Given the description of an element on the screen output the (x, y) to click on. 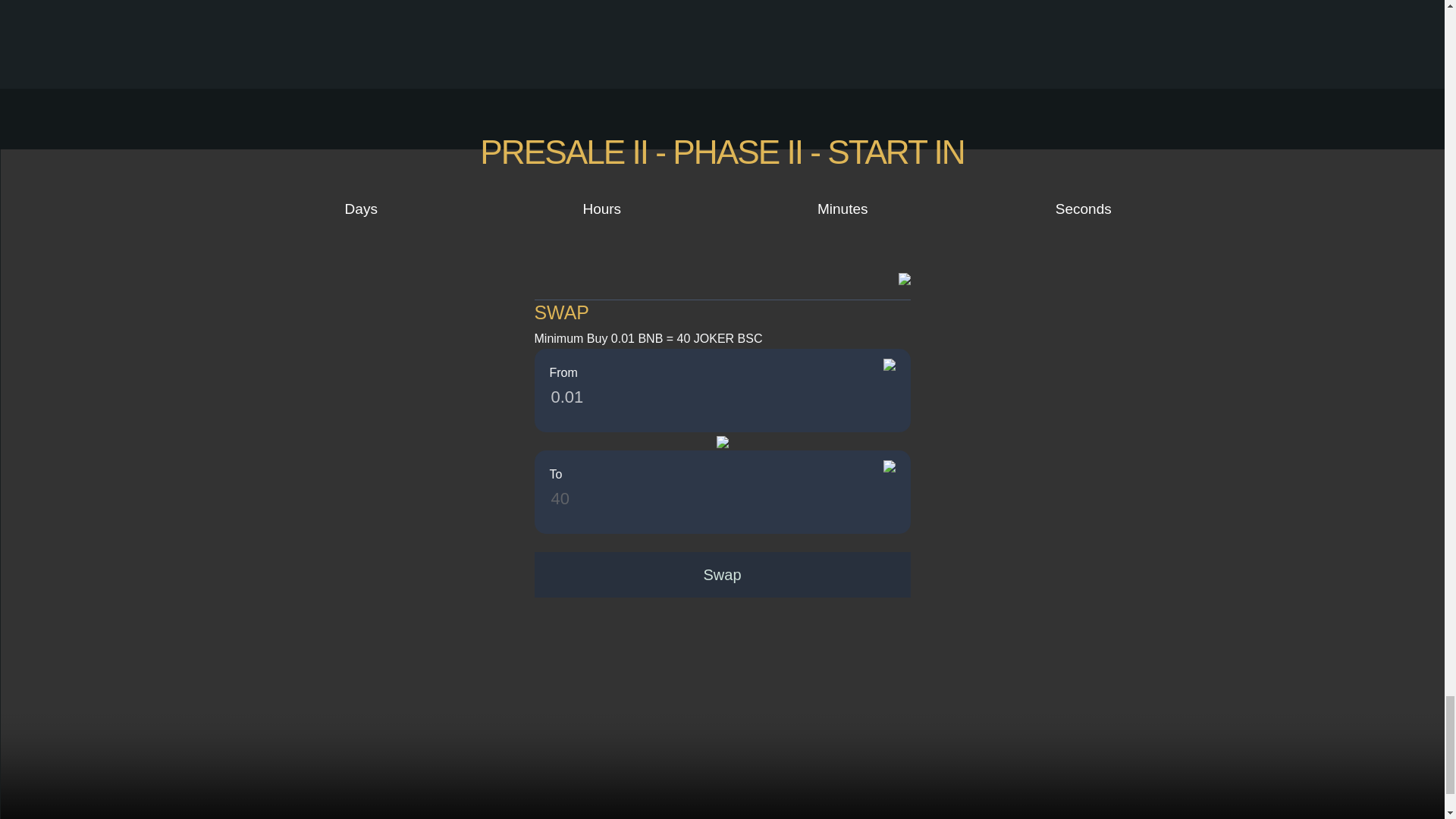
Swap (722, 574)
0.01 (679, 397)
